Given the description of an element on the screen output the (x, y) to click on. 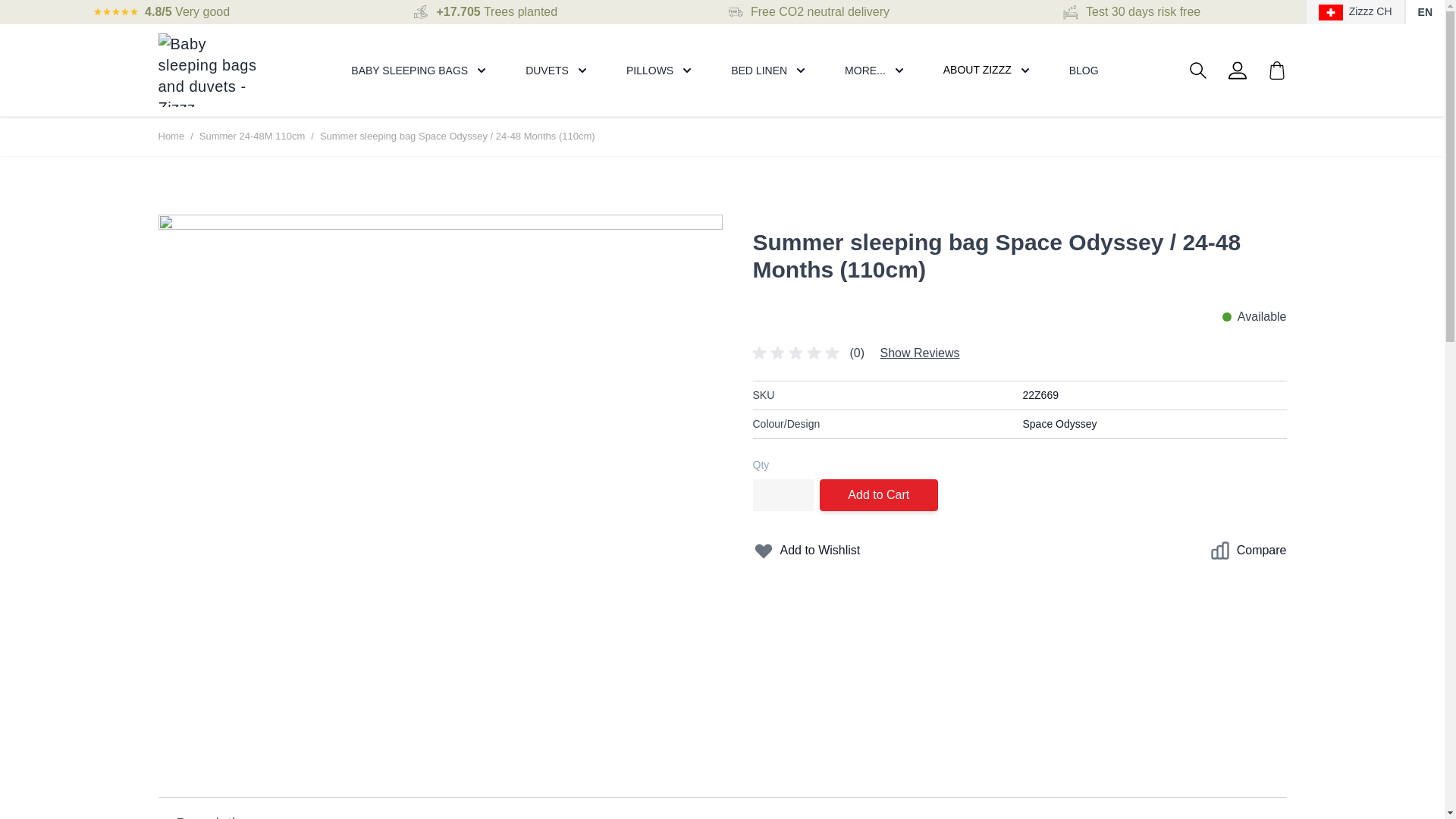
Free CO2 neutral delivery (820, 11)
Baby sleeping bags and duvets - Zizzz (213, 70)
EN (1425, 12)
Test 30 days risk free (1142, 11)
